Given the description of an element on the screen output the (x, y) to click on. 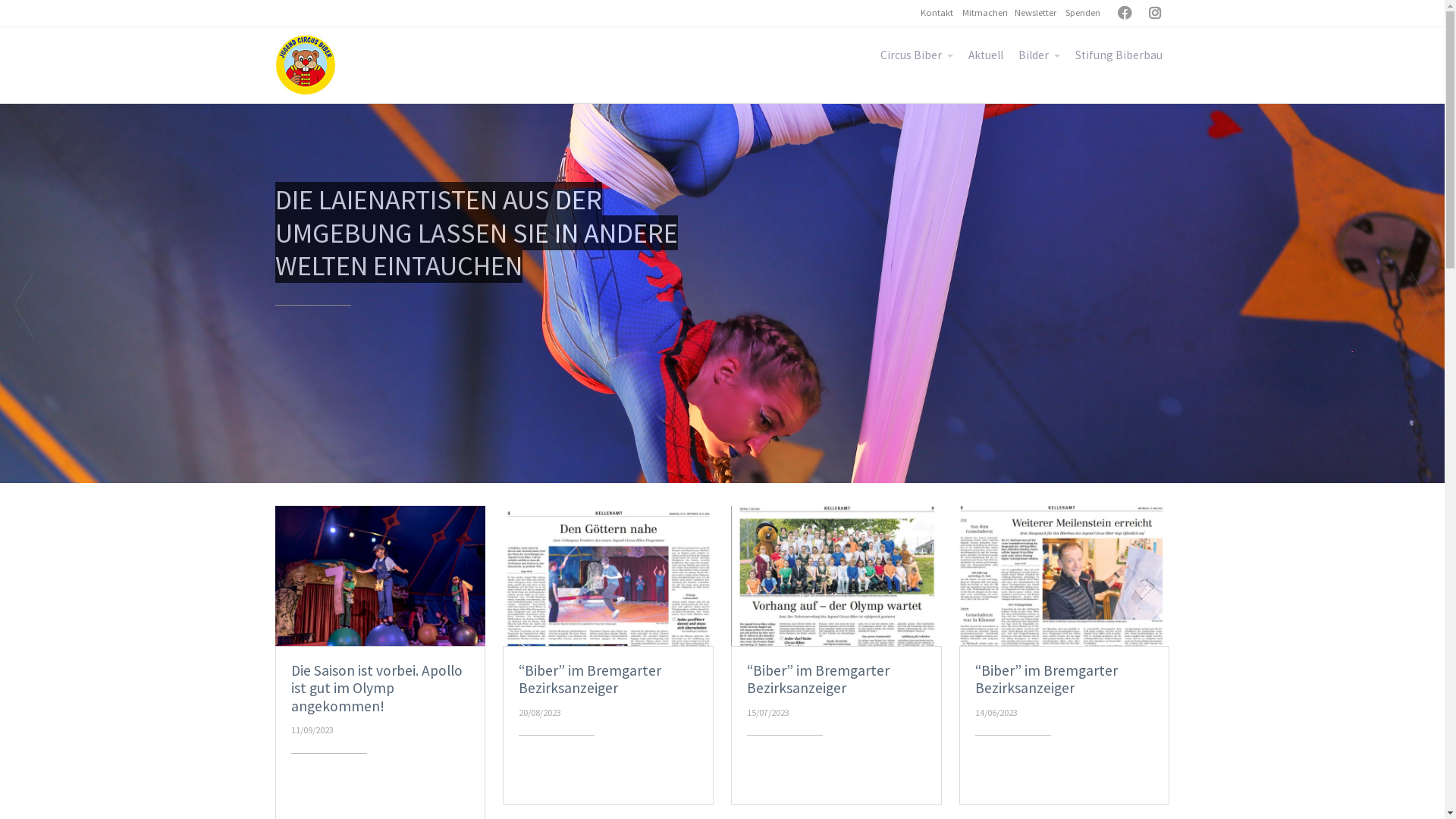
Spenden Element type: text (1081, 12)
Kontakt Element type: text (936, 12)
Stifung Biberbau Element type: text (1118, 55)
Die Saison ist vorbei. Apollo ist gut im Olymp angekommen! Element type: text (376, 688)
Aktuell Element type: text (985, 55)
Bilder Element type: text (1038, 55)
Newsletter Element type: text (1035, 12)
Circus Biber Element type: text (916, 55)
Mitmachen Element type: text (984, 12)
